Given the description of an element on the screen output the (x, y) to click on. 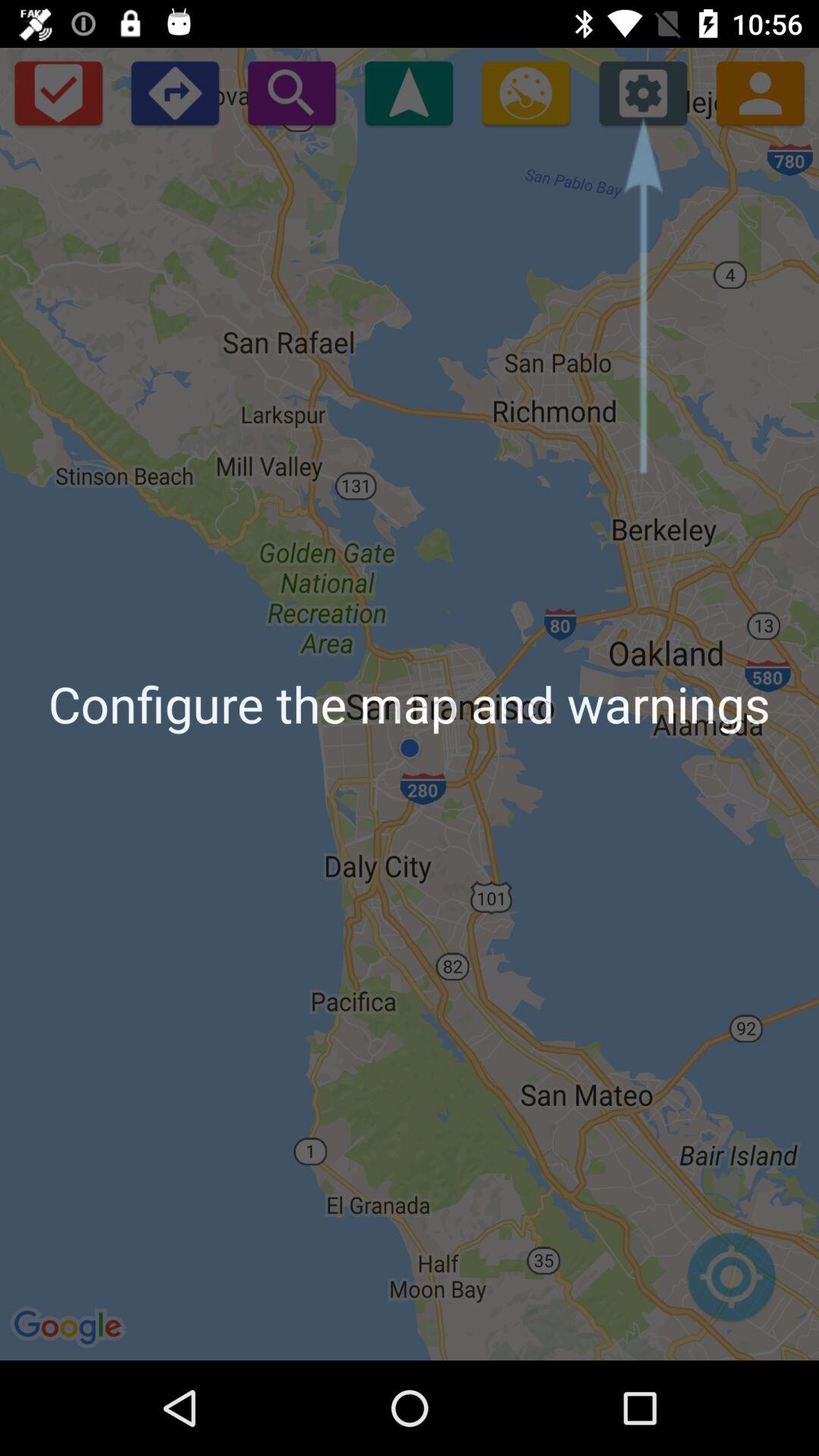
turn on app above the configure the map item (408, 92)
